Given the description of an element on the screen output the (x, y) to click on. 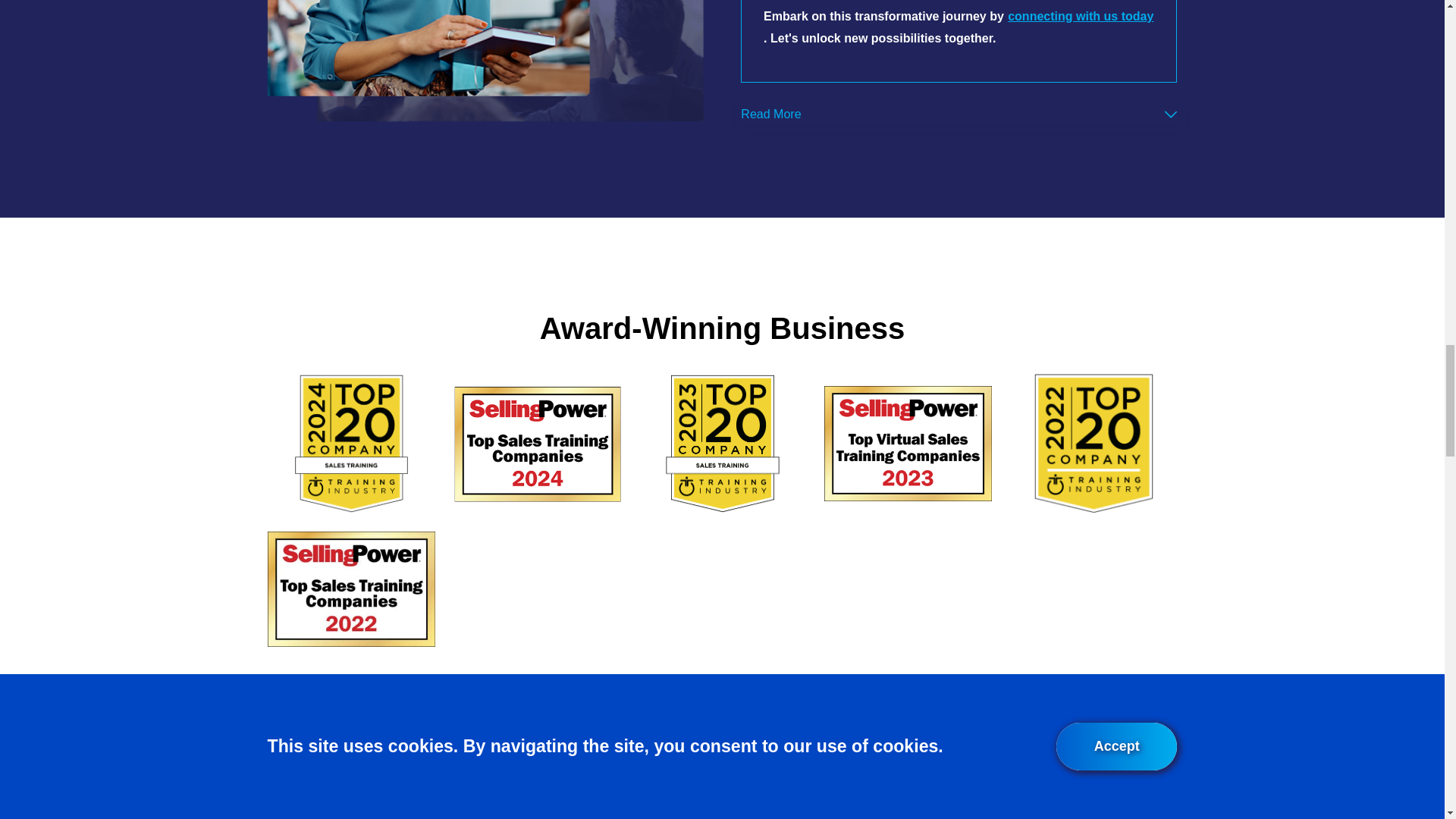
Selling Power Top Sales Training Companies 2024 (536, 442)
More (1170, 114)
Top 25 Sales Training Companies in 2022 by Selling Power (351, 589)
